Given the description of an element on the screen output the (x, y) to click on. 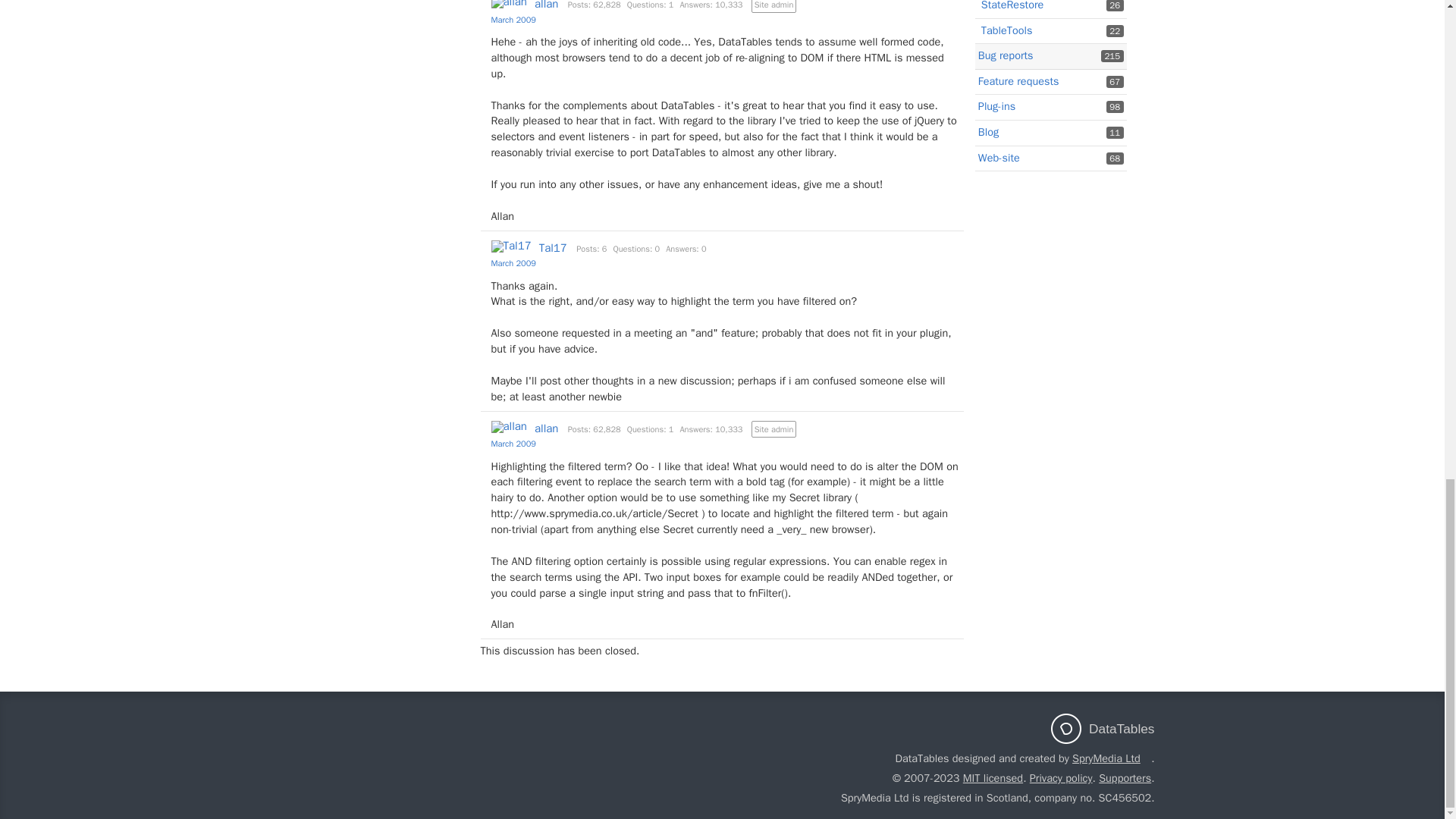
allan (545, 5)
Tal17 (511, 246)
March 13, 2009 10:56PM (513, 262)
allan (509, 426)
allan (509, 4)
March 13, 2009 10:50PM (513, 19)
March 13, 2009 11:01PM (513, 443)
